Given the description of an element on the screen output the (x, y) to click on. 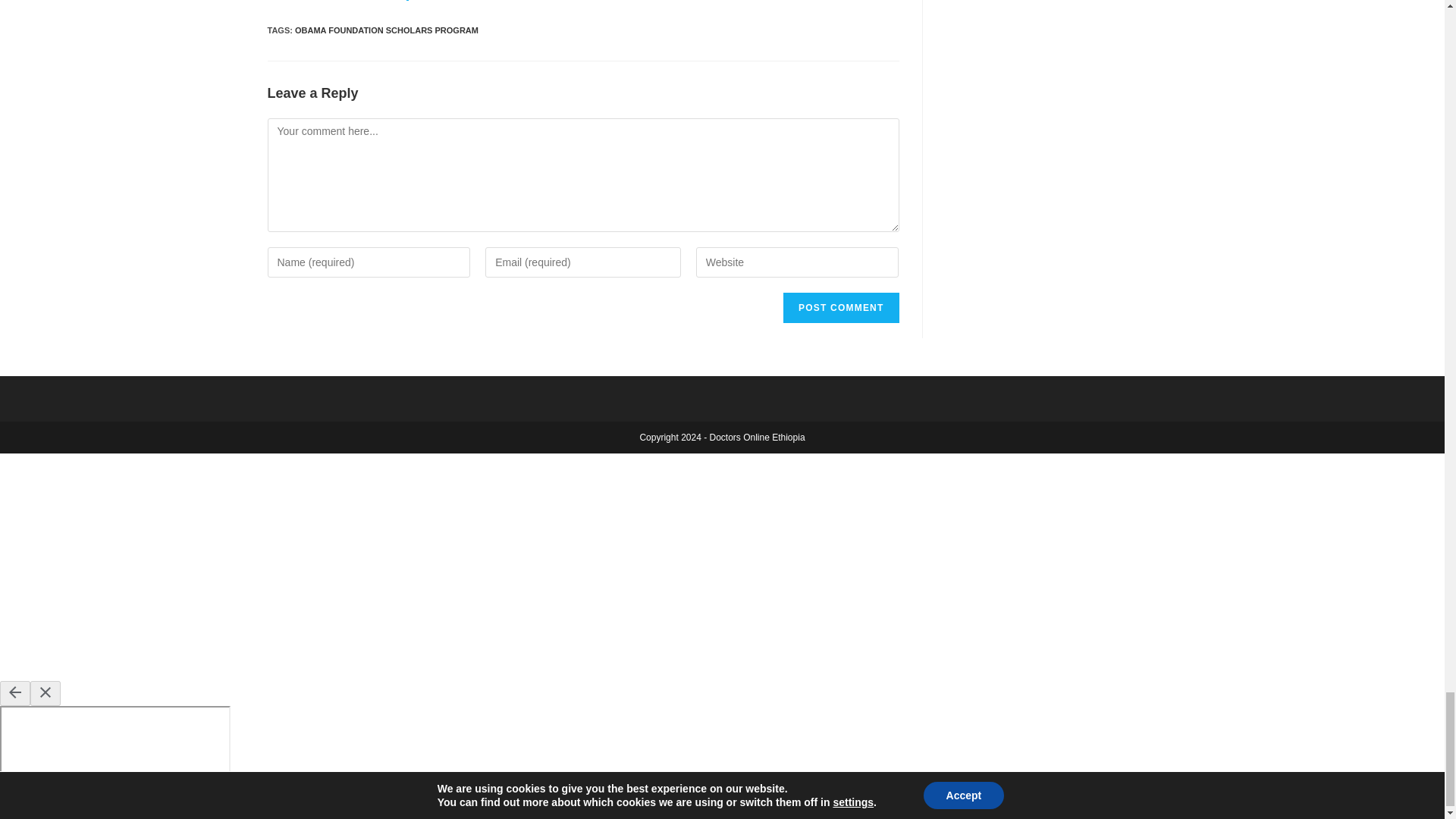
Post Comment (840, 307)
